Given the description of an element on the screen output the (x, y) to click on. 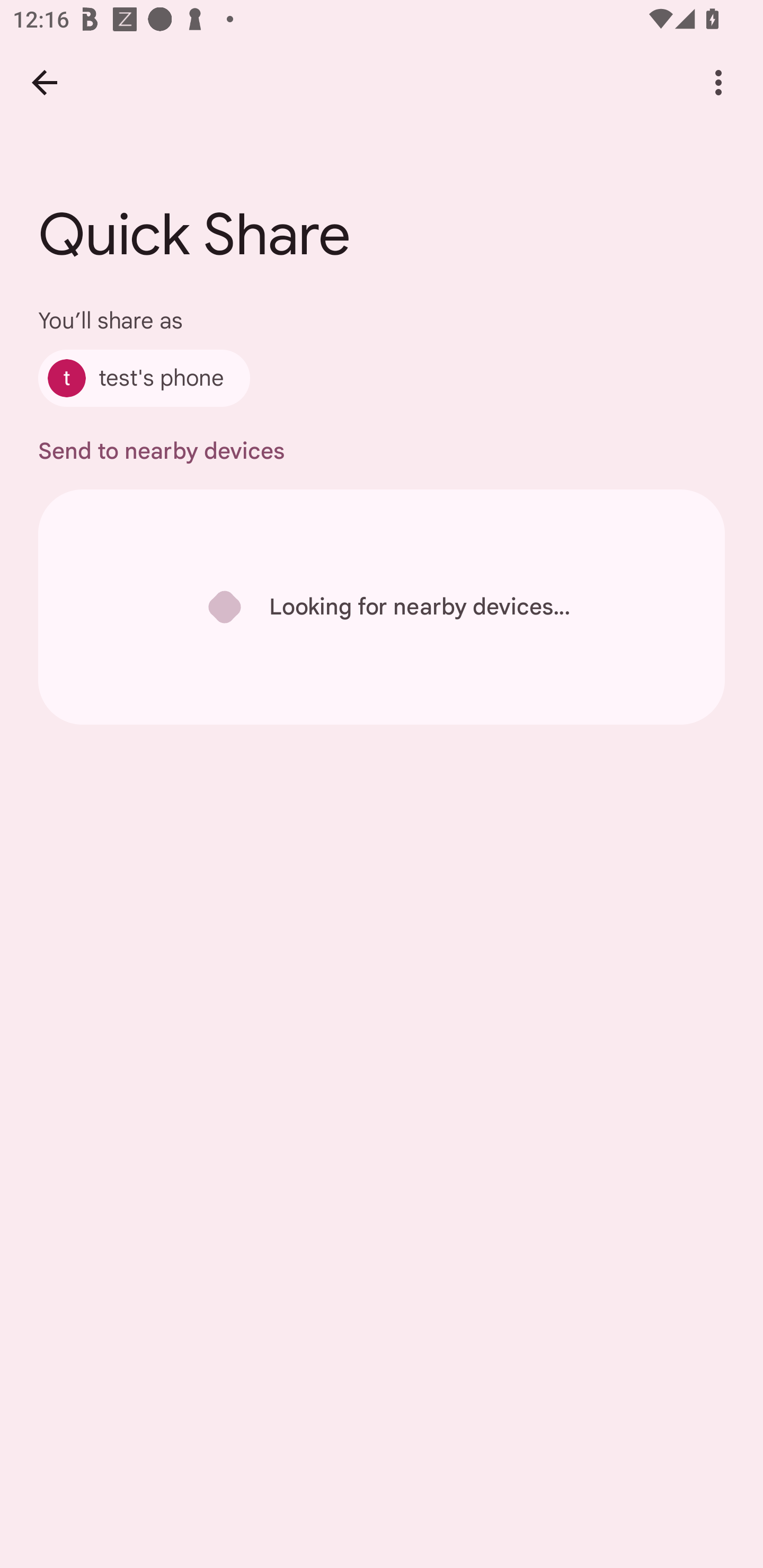
Back (44, 81)
More (718, 81)
test's phone (144, 378)
